Given the description of an element on the screen output the (x, y) to click on. 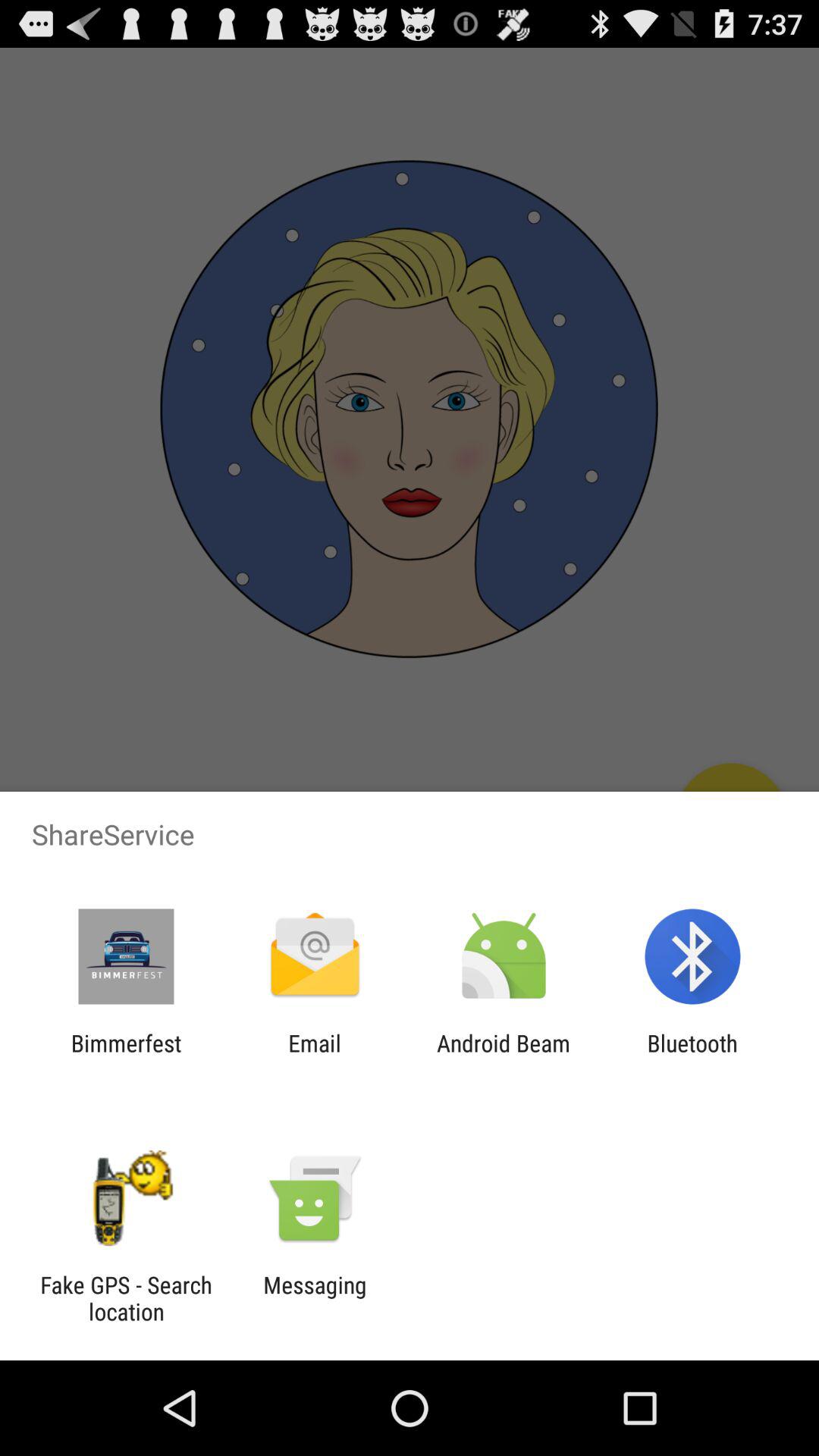
scroll until fake gps search app (125, 1298)
